Given the description of an element on the screen output the (x, y) to click on. 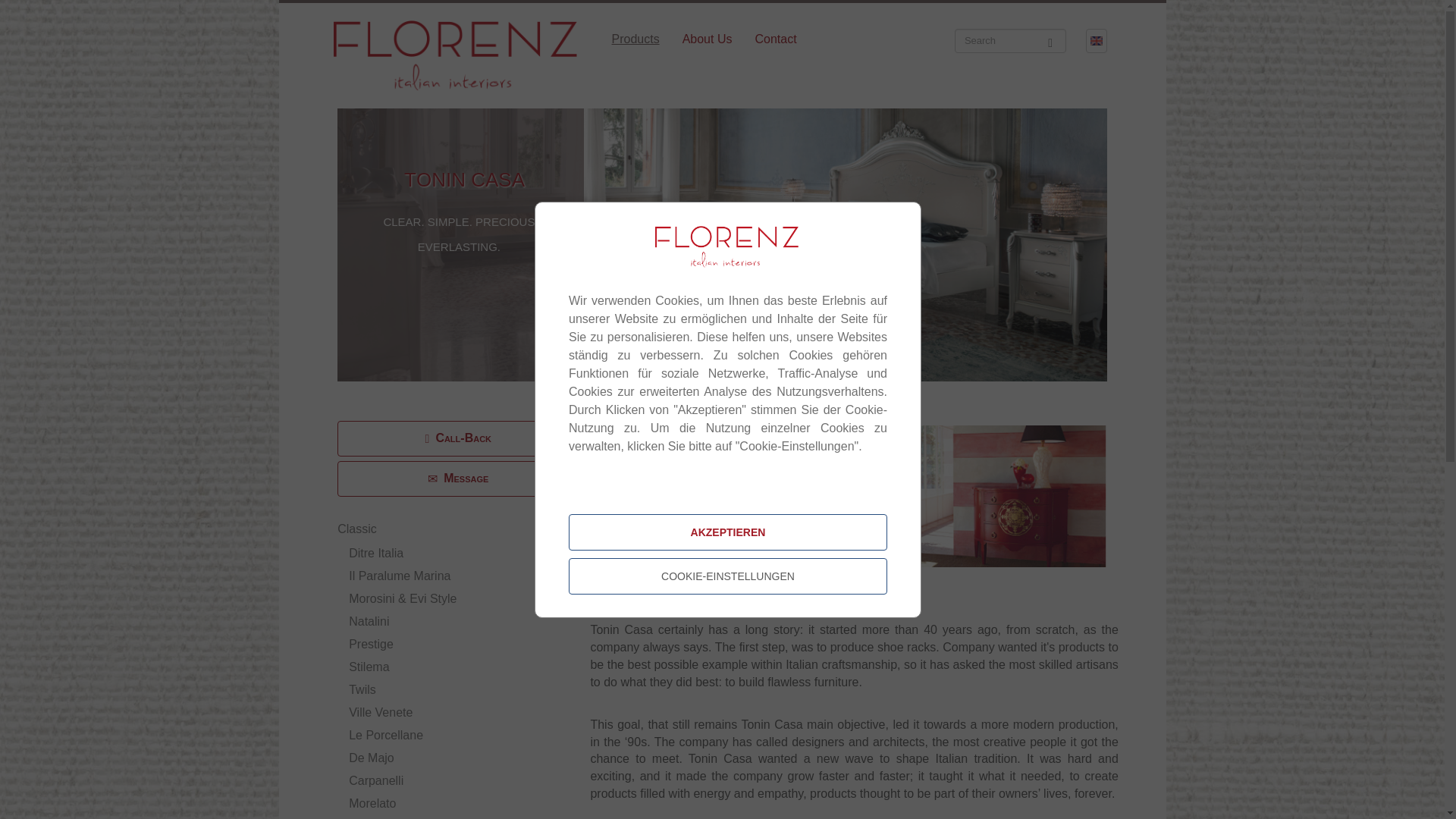
Carpanelli (376, 780)
Stilema (368, 666)
Le Porcellane (386, 735)
Natalini (368, 621)
Products (634, 39)
Ditre Italia (376, 553)
About Us (707, 39)
Upholstered Sofas and Armchairs (376, 553)
Twils (362, 689)
Il Paralume Marina (399, 575)
